Given the description of an element on the screen output the (x, y) to click on. 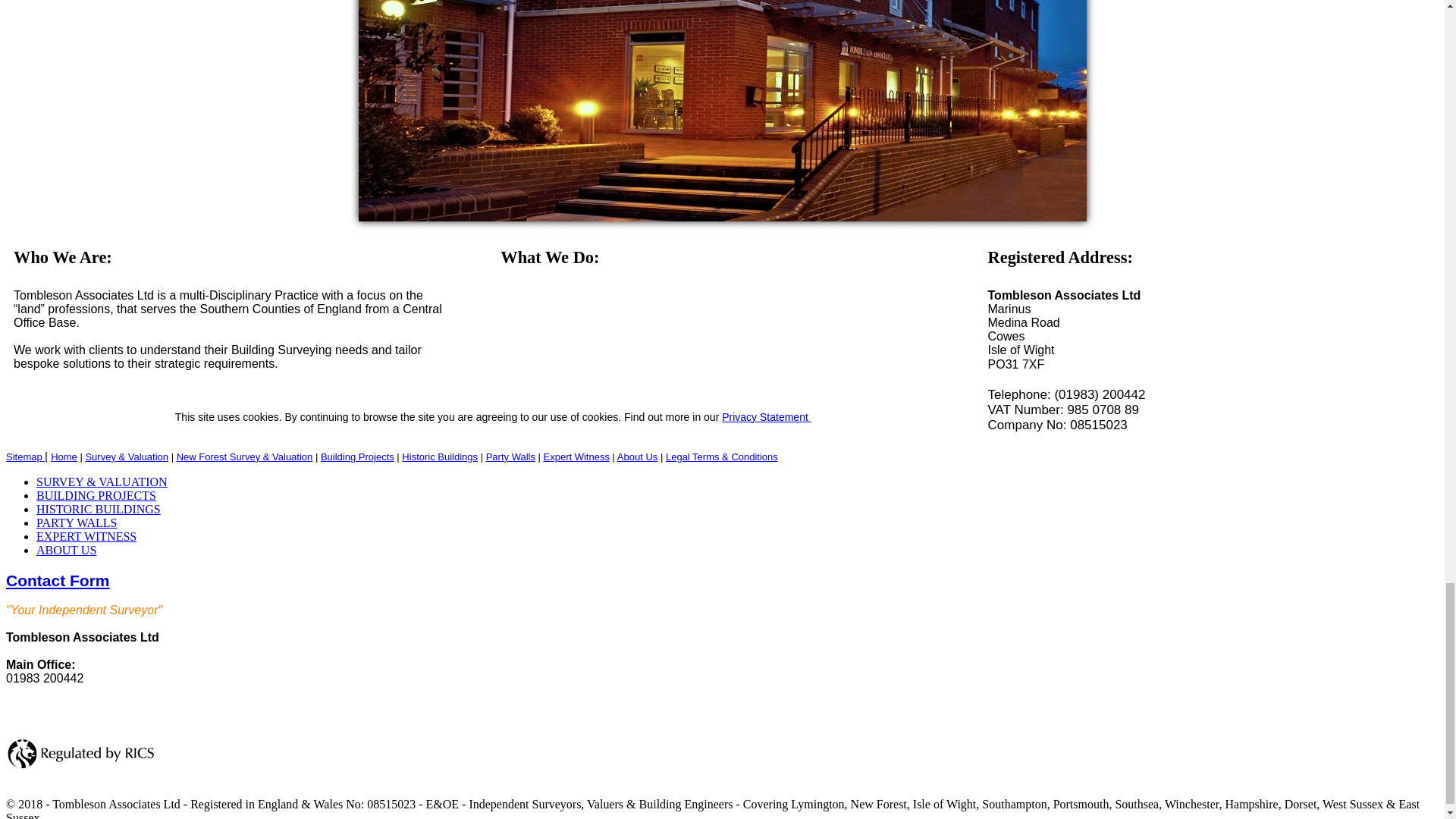
About Us (637, 456)
Home (63, 456)
PARTY WALLS (510, 456)
LEGAL (721, 456)
BUILDING PROJECTS (357, 456)
Expert Witness (576, 456)
Historic Buildings (439, 456)
EXPERT WITNESS (86, 535)
Sitemap (23, 456)
Party Walls (510, 456)
LEGAL (766, 417)
ABOUT US (66, 549)
PARTY WALLS (76, 522)
HOME (63, 456)
BUILDING PROJECTS (95, 495)
